Given the description of an element on the screen output the (x, y) to click on. 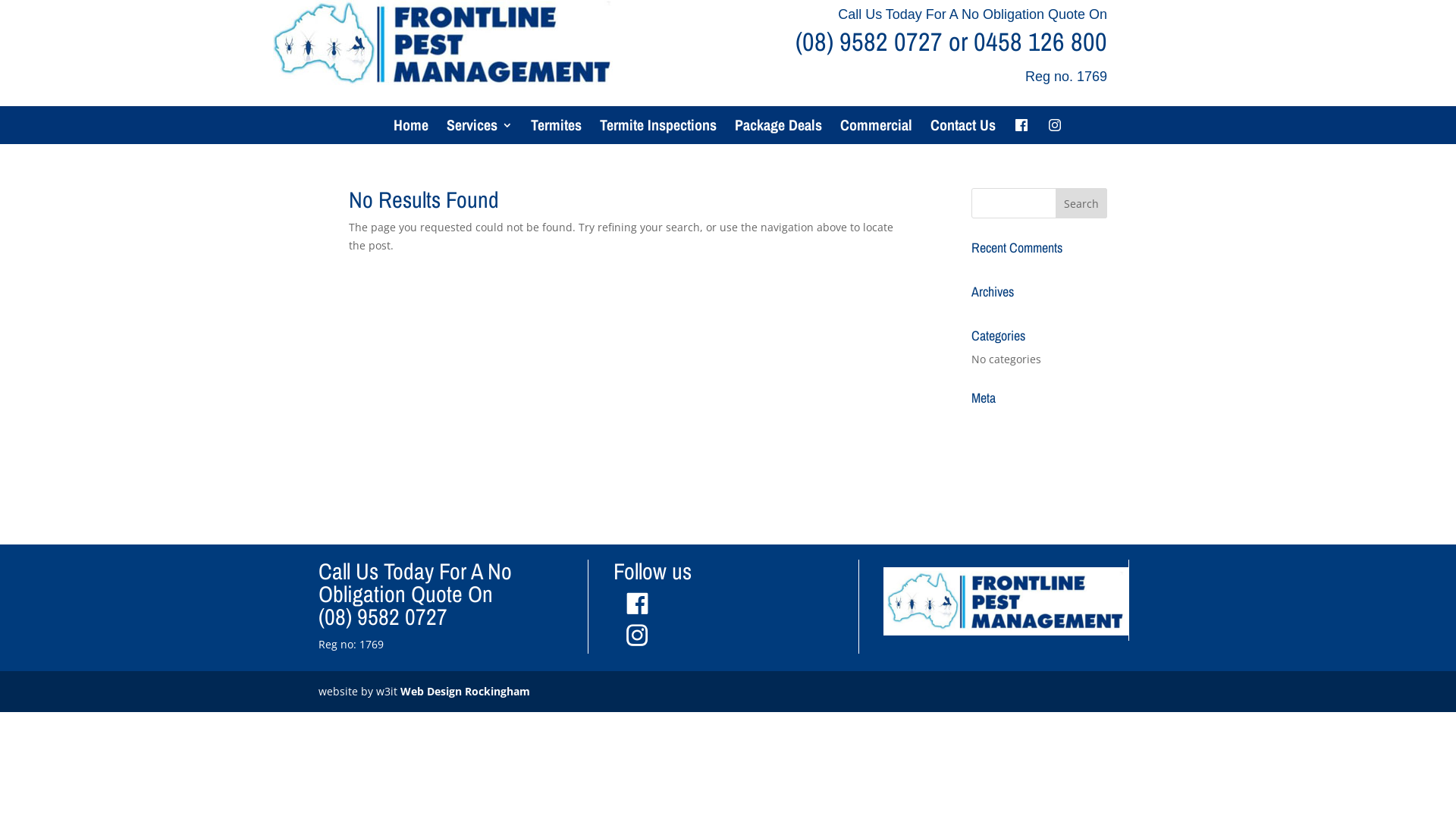
Termites Element type: text (555, 137)
Commercial Element type: text (876, 137)
Search Element type: text (1081, 203)
Home Element type: text (410, 137)
Comments feed Element type: text (1011, 467)
Services Element type: text (479, 137)
Log in Element type: text (986, 421)
Web Design Rockingham Element type: text (465, 691)
Termite Inspections Element type: text (657, 137)
(08) 9582 0727 or Element type: text (884, 41)
Package Deals Element type: text (778, 137)
0458 126 800 Element type: text (1040, 41)
Entries feed Element type: text (1001, 444)
Contact Us Element type: text (962, 137)
WordPress.org Element type: text (1008, 490)
